Given the description of an element on the screen output the (x, y) to click on. 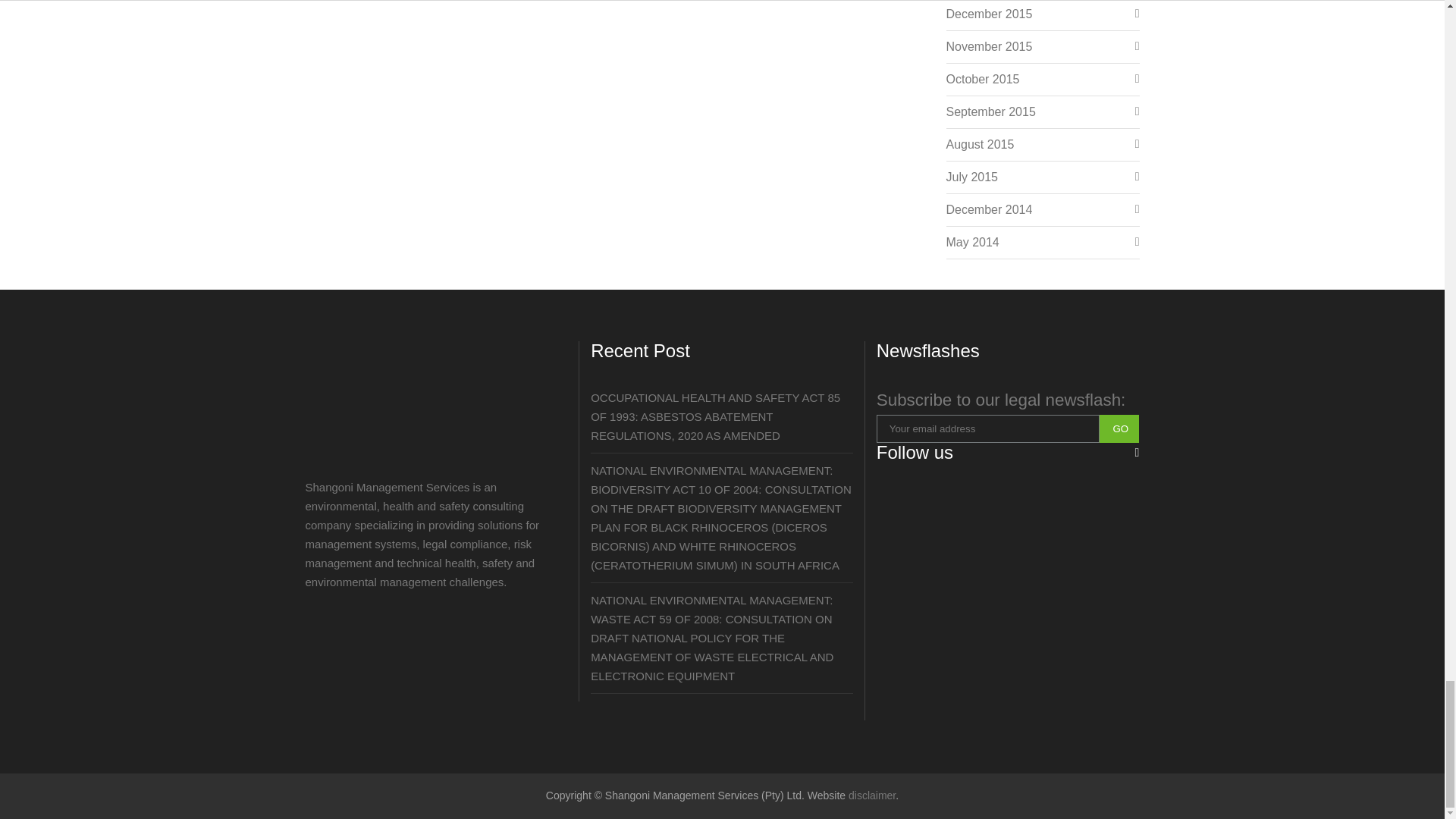
GO (1118, 428)
